Given the description of an element on the screen output the (x, y) to click on. 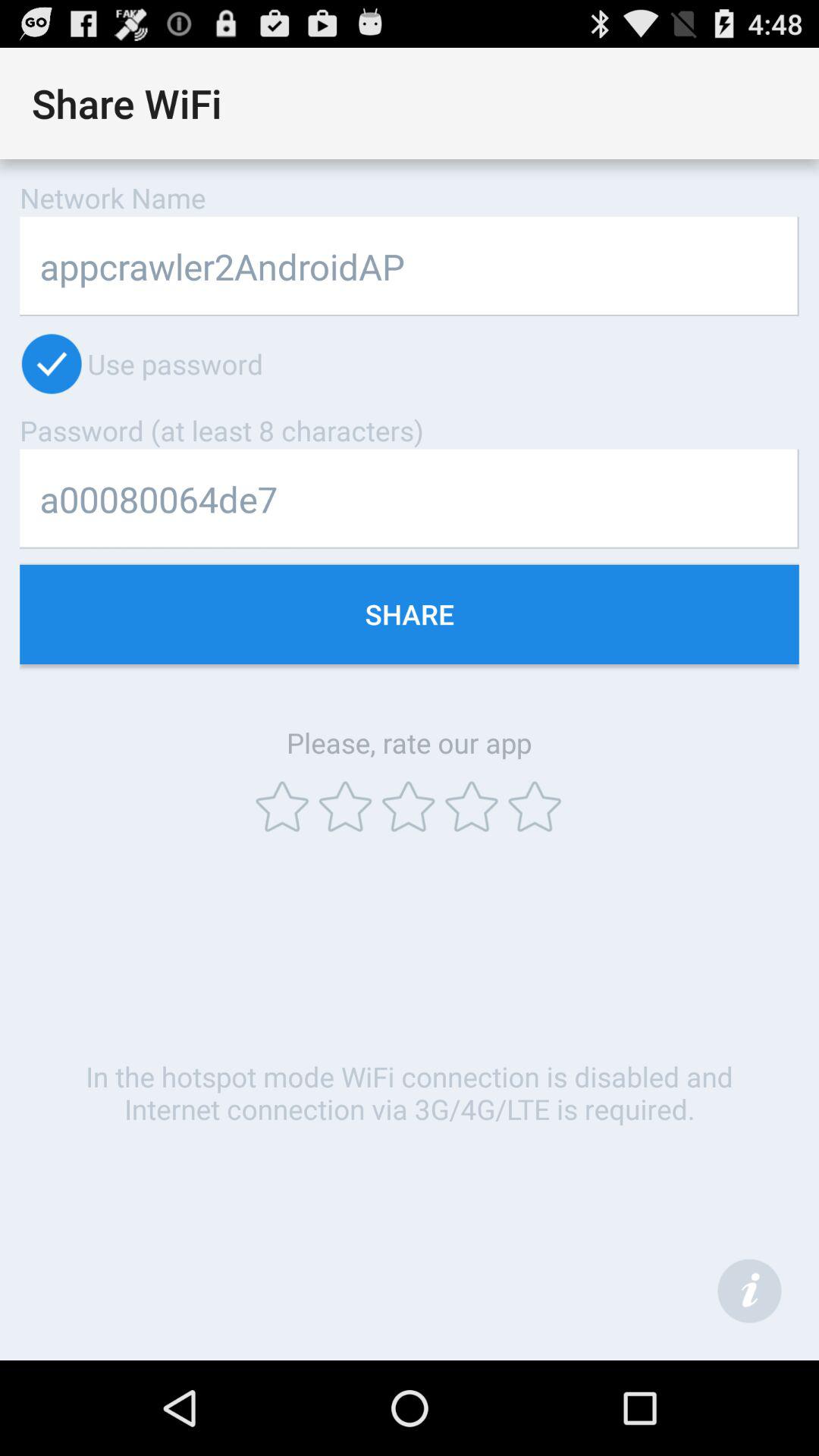
choose the appcrawler2androidap item (409, 266)
